Given the description of an element on the screen output the (x, y) to click on. 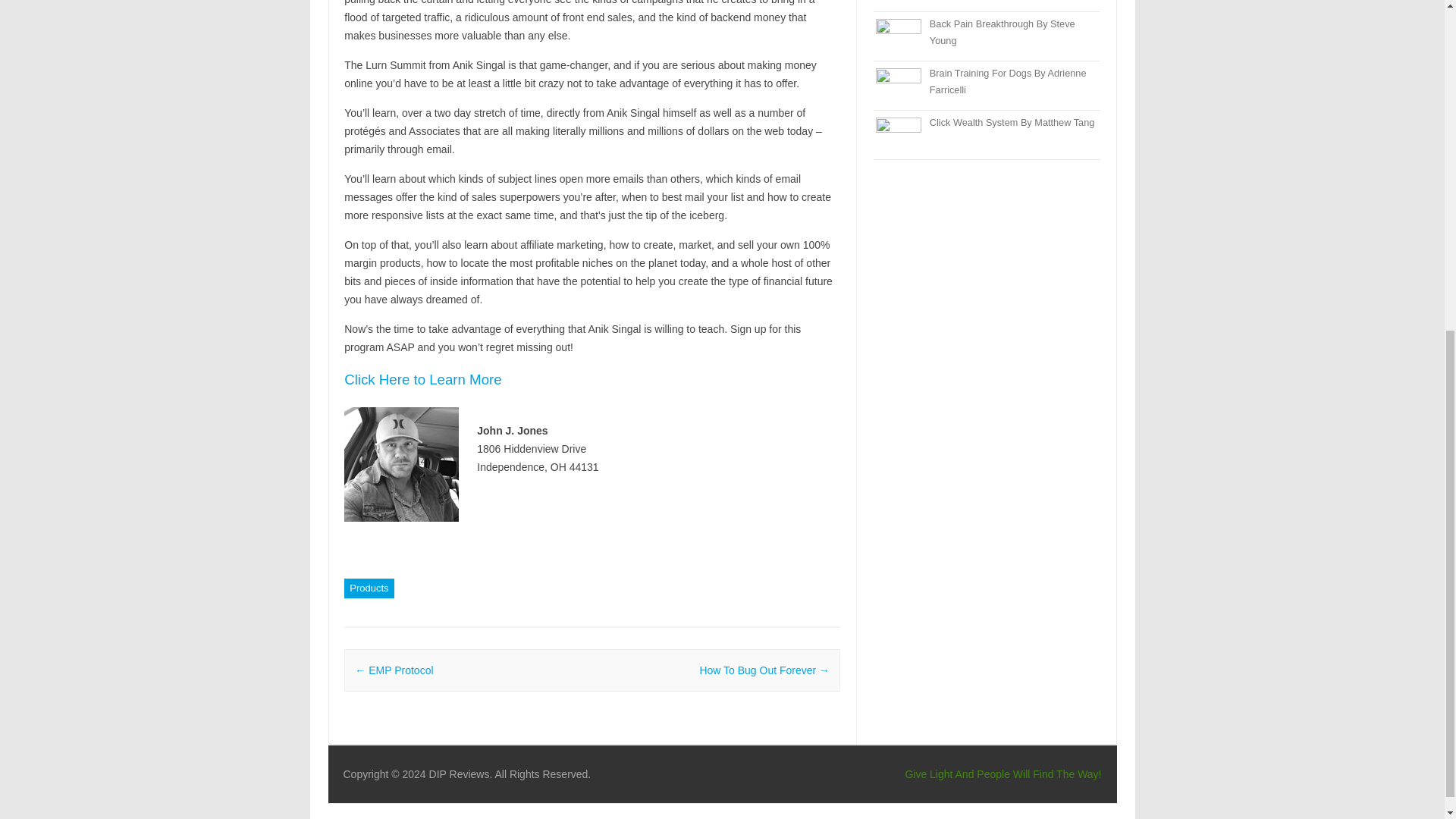
Back Pain Breakthrough By Steve Young (1002, 31)
Brain Training For Dogs By Adrienne Farricelli (1008, 81)
Click Wealth System By Matthew Tang (1012, 122)
Click Here to Learn More (421, 380)
Products (368, 588)
